Given the description of an element on the screen output the (x, y) to click on. 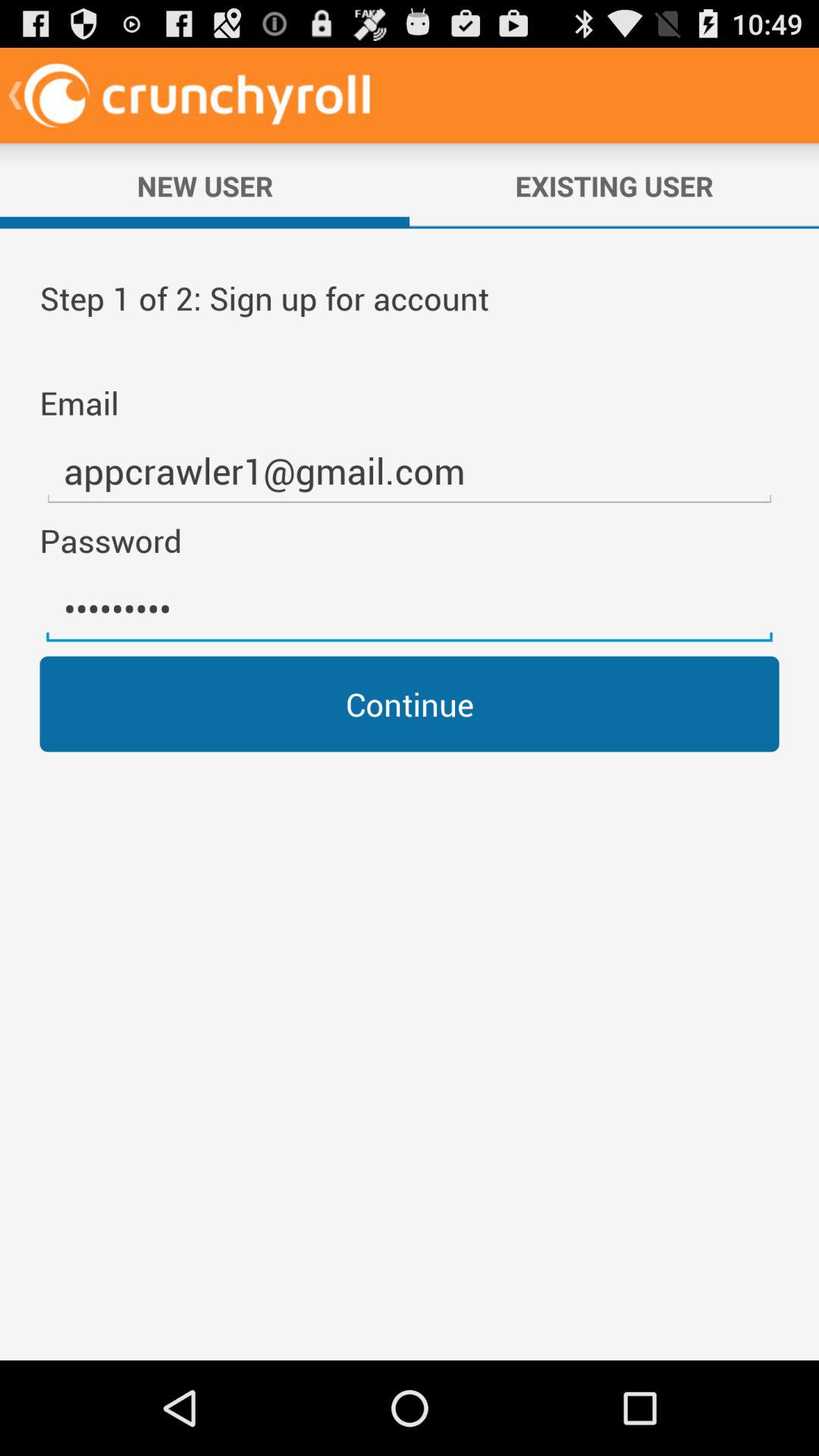
launch continue (409, 703)
